Given the description of an element on the screen output the (x, y) to click on. 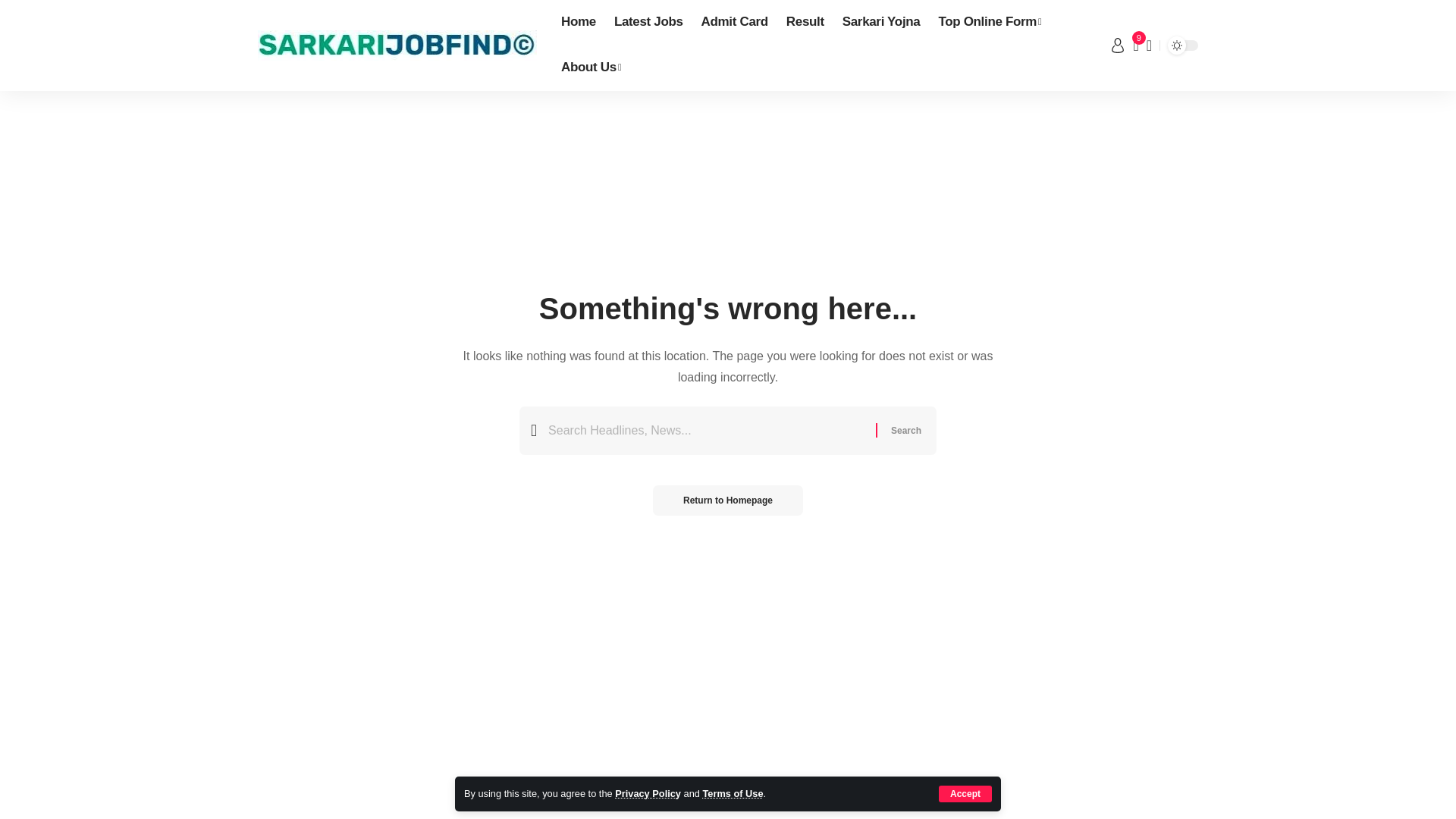
About Us (590, 67)
Sarkari Yojna (881, 22)
Top Online Form (988, 22)
Result (804, 22)
Search (906, 430)
Home (578, 22)
Admit Card (735, 22)
Latest Jobs (649, 22)
